Given the description of an element on the screen output the (x, y) to click on. 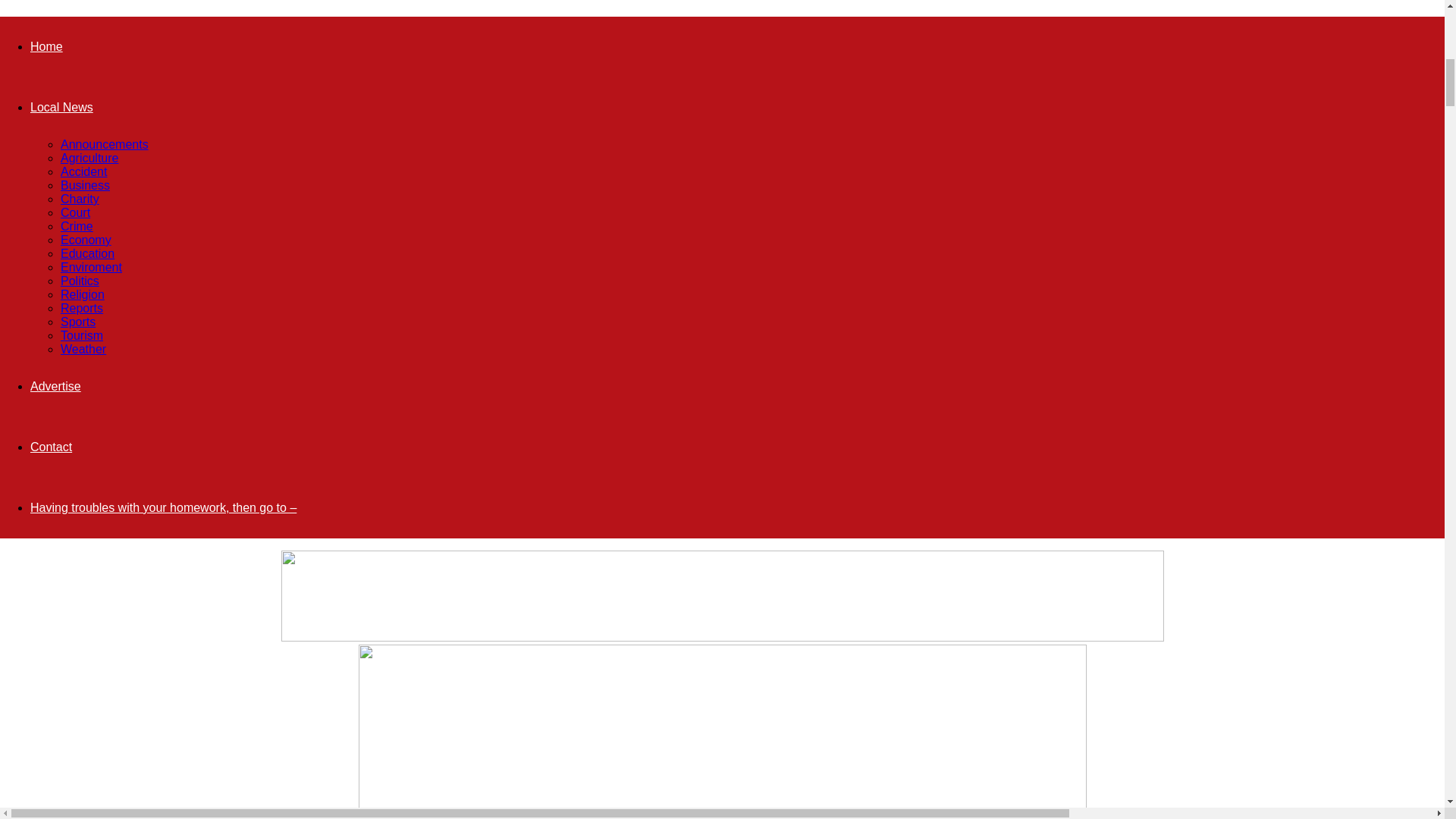
Announcements (104, 144)
Home (46, 46)
Local News (61, 106)
